Given the description of an element on the screen output the (x, y) to click on. 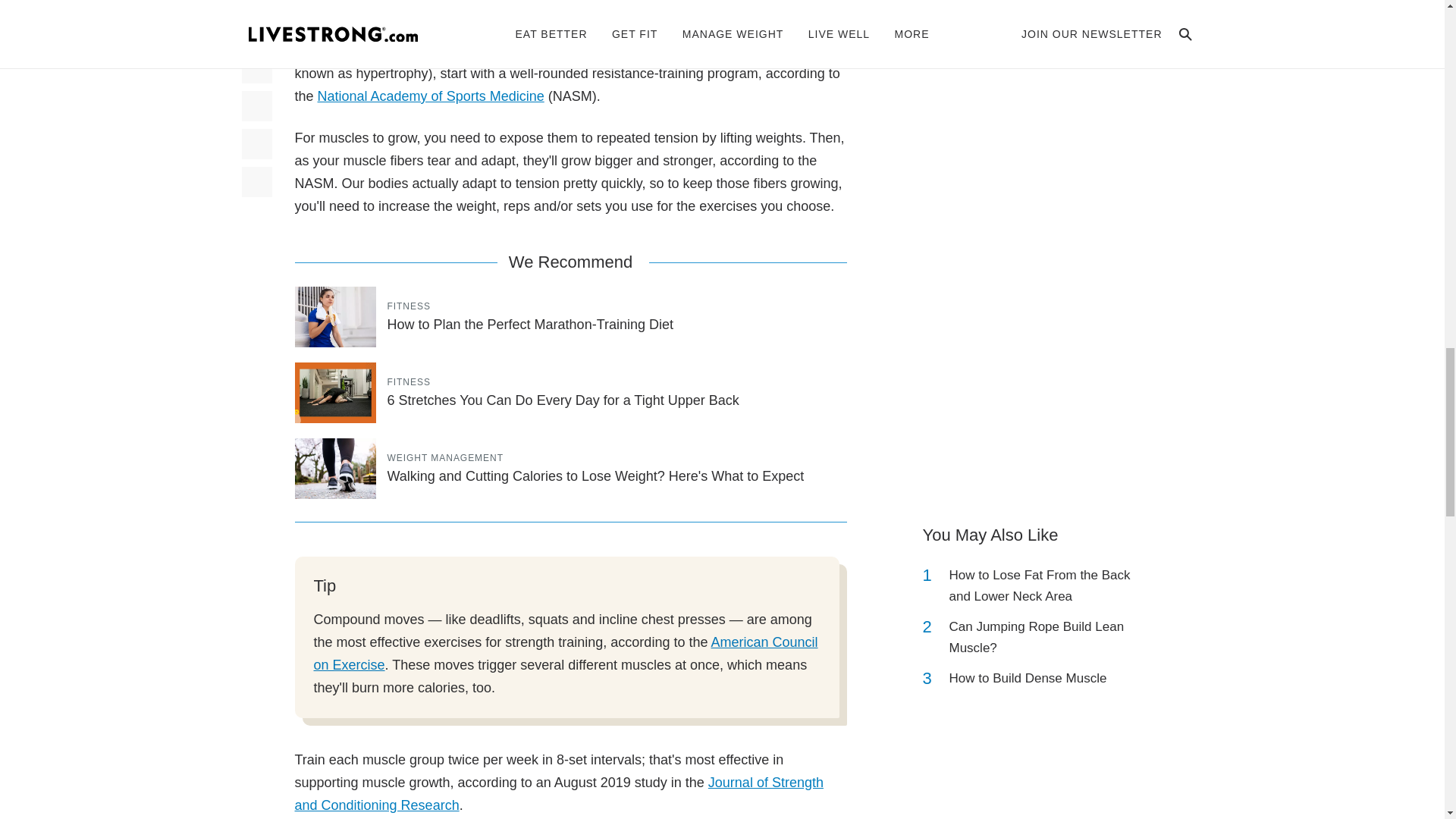
American Council on Exercise (566, 653)
How to Lose Fat From the Back and Lower Neck Area (1042, 586)
How to Plan the Perfect Marathon-Training Diet (529, 324)
Can Jumping Rope Build Lean Muscle? (1042, 637)
6 Stretches You Can Do Every Day for a Tight Upper Back (562, 400)
How to Build Dense Muscle (1027, 678)
National Academy of Sports Medicine (430, 96)
Calories Burned During Arm Exercises (1042, 7)
